Given the description of an element on the screen output the (x, y) to click on. 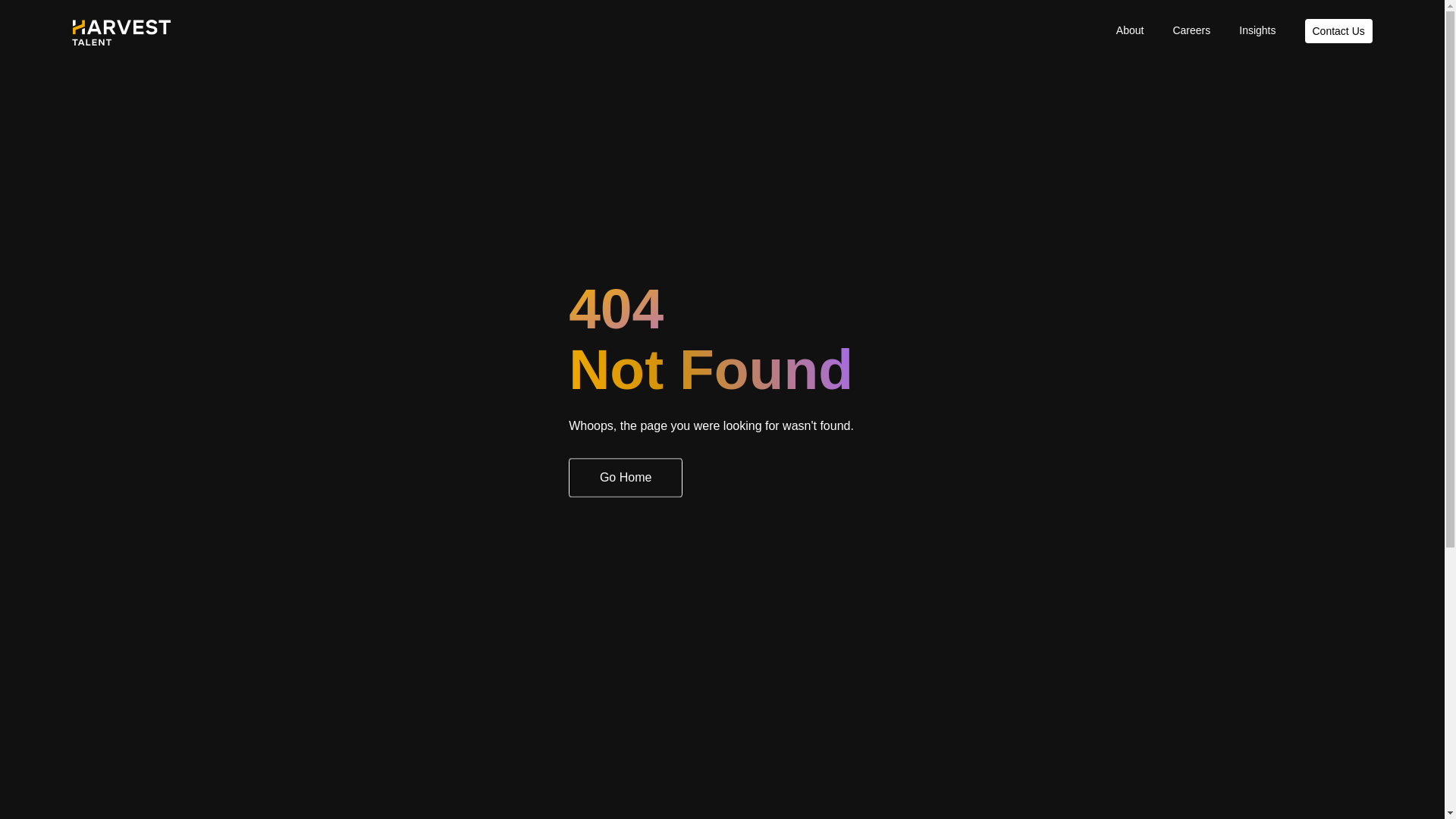
About Element type: text (1130, 30)
Insights Element type: text (1257, 30)
Careers Element type: text (1191, 30)
Contact Us Element type: text (1337, 30)
Go Home Element type: text (625, 477)
